Given the description of an element on the screen output the (x, y) to click on. 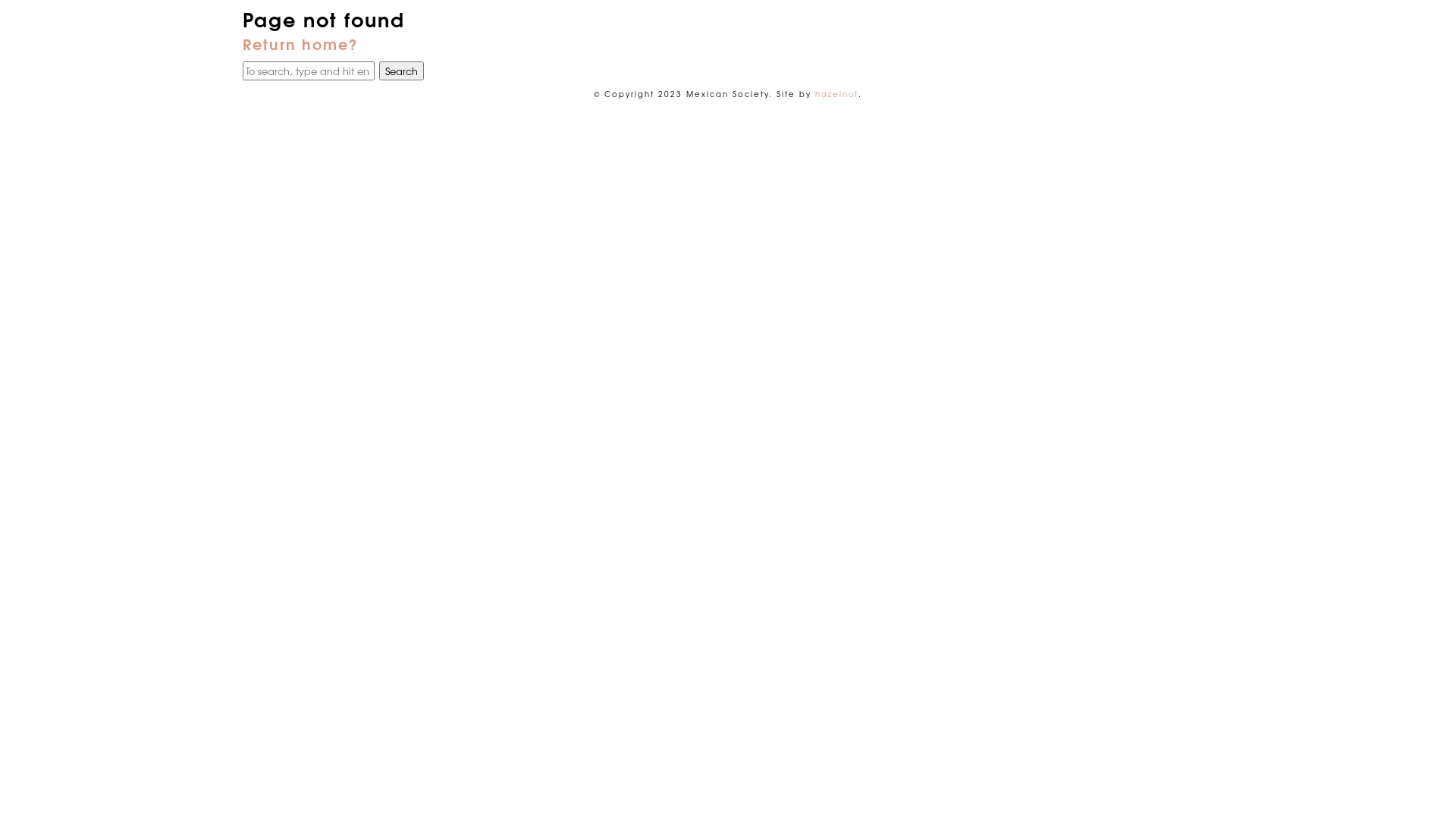
Search Element type: text (401, 70)
hazelnut Element type: text (836, 93)
Return home? Element type: text (300, 42)
